Given the description of an element on the screen output the (x, y) to click on. 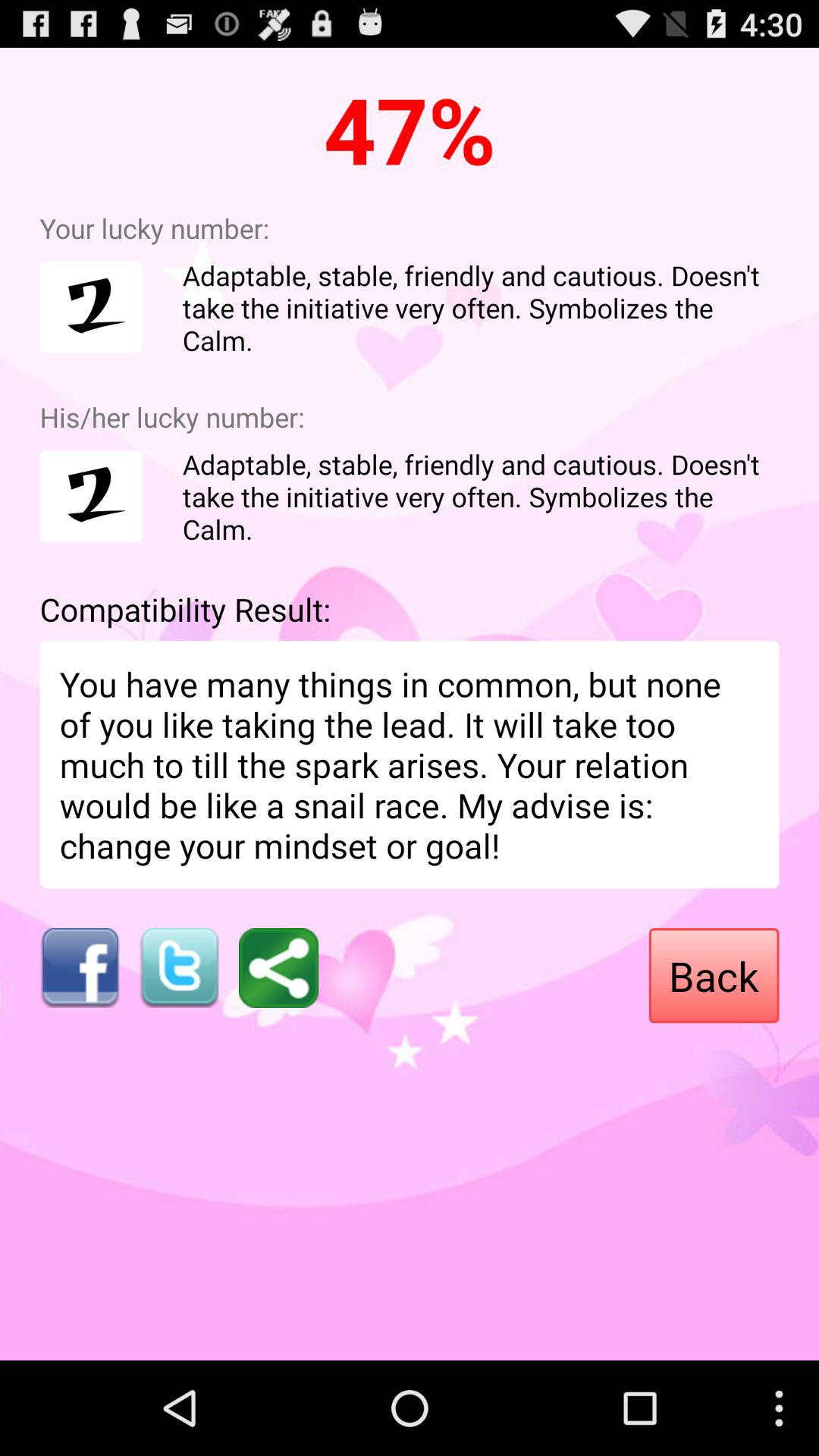
turn off icon next to the back item (278, 967)
